Given the description of an element on the screen output the (x, y) to click on. 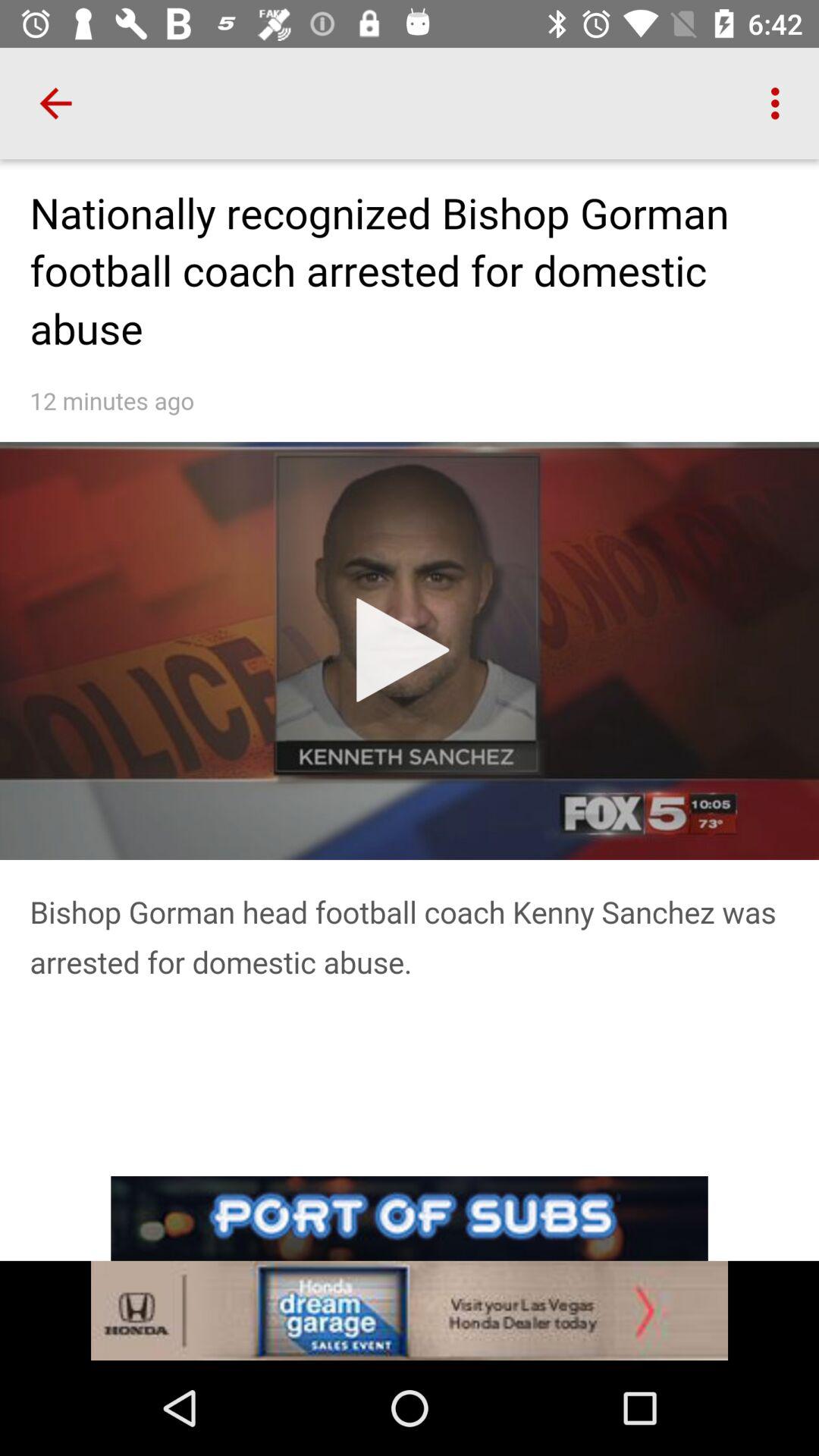
sponsor advertisement for port of subs (409, 1268)
